Given the description of an element on the screen output the (x, y) to click on. 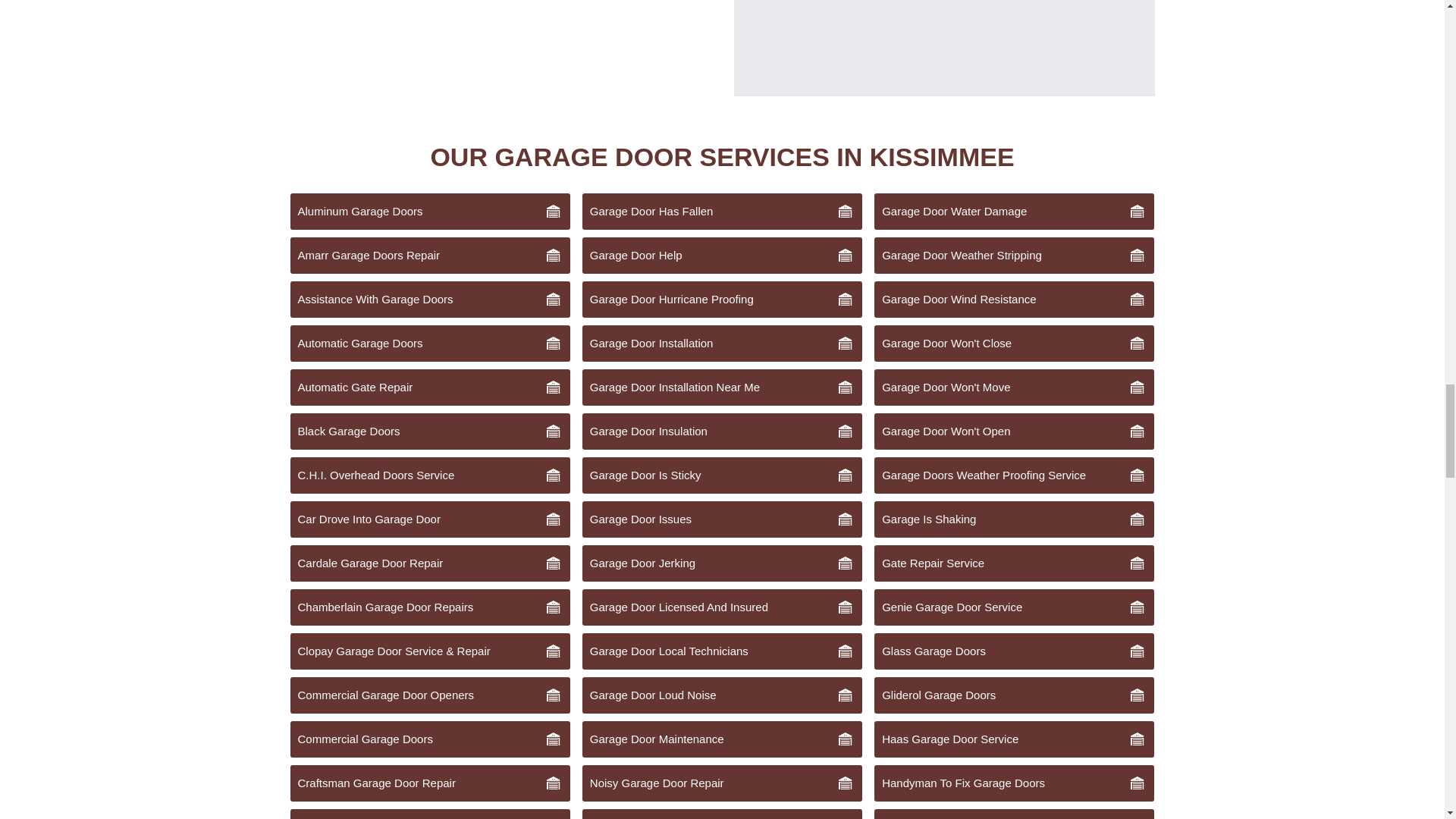
Craftsman Garage Door Repair (429, 782)
Cardale Garage Door Repair (429, 563)
Automatic Garage Doors (429, 343)
Automatic Gate Repair (429, 387)
Assistance With Garage Doors (429, 299)
Amarr Garage Doors Repair (429, 255)
Car Drove Into Garage Door (429, 519)
Custom Garage Doors (429, 814)
Aluminum Garage Doors (429, 211)
C.H.I. Overhead Doors Service (429, 475)
